Given the description of an element on the screen output the (x, y) to click on. 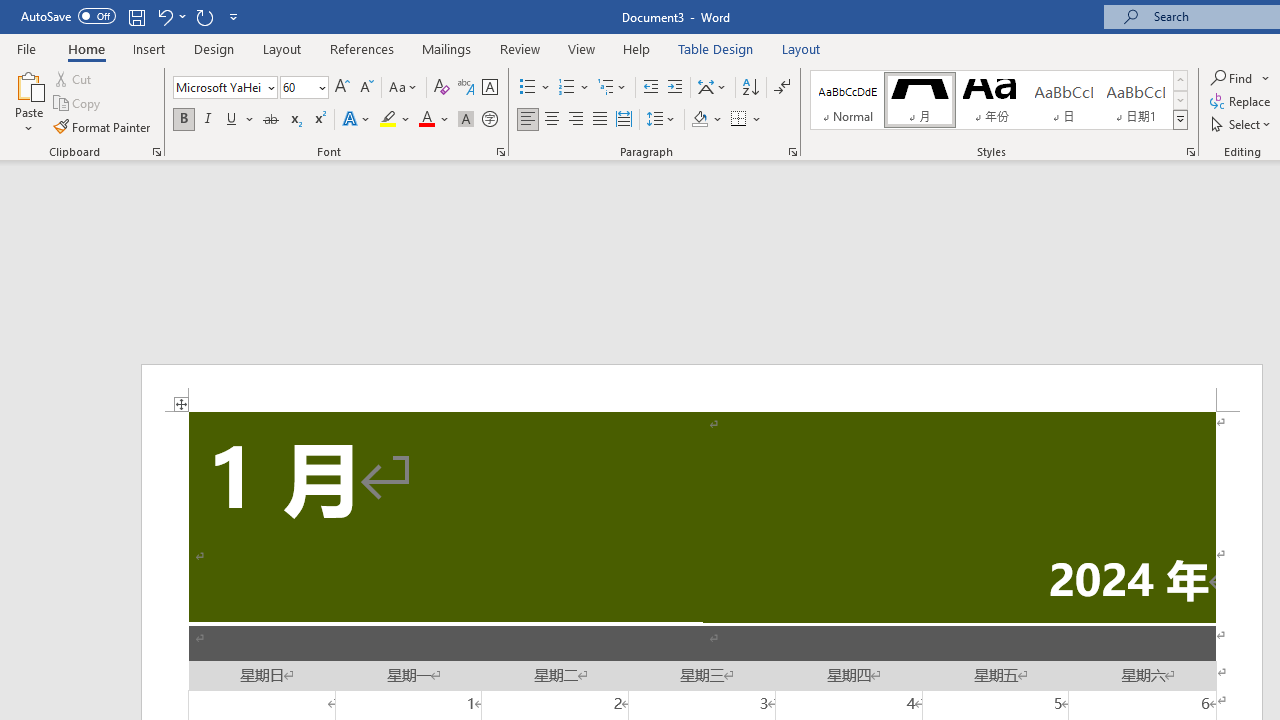
Open (320, 87)
Layout (801, 48)
